Given the description of an element on the screen output the (x, y) to click on. 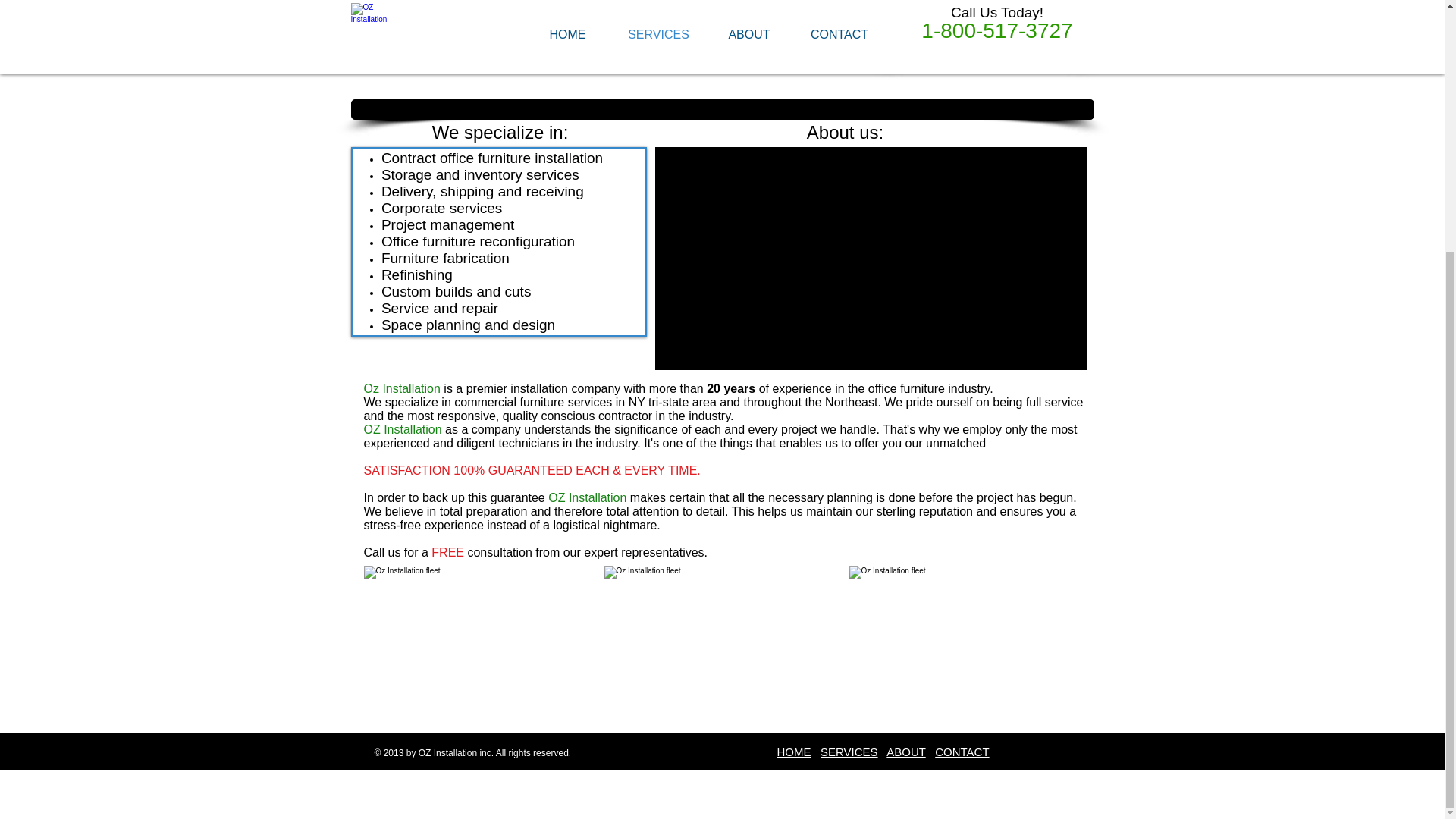
Oz Installation fleet (484, 633)
SERVICES (849, 751)
HOME (793, 751)
External YouTube (870, 258)
ABOUT (905, 751)
CONTACT (961, 751)
